Given the description of an element on the screen output the (x, y) to click on. 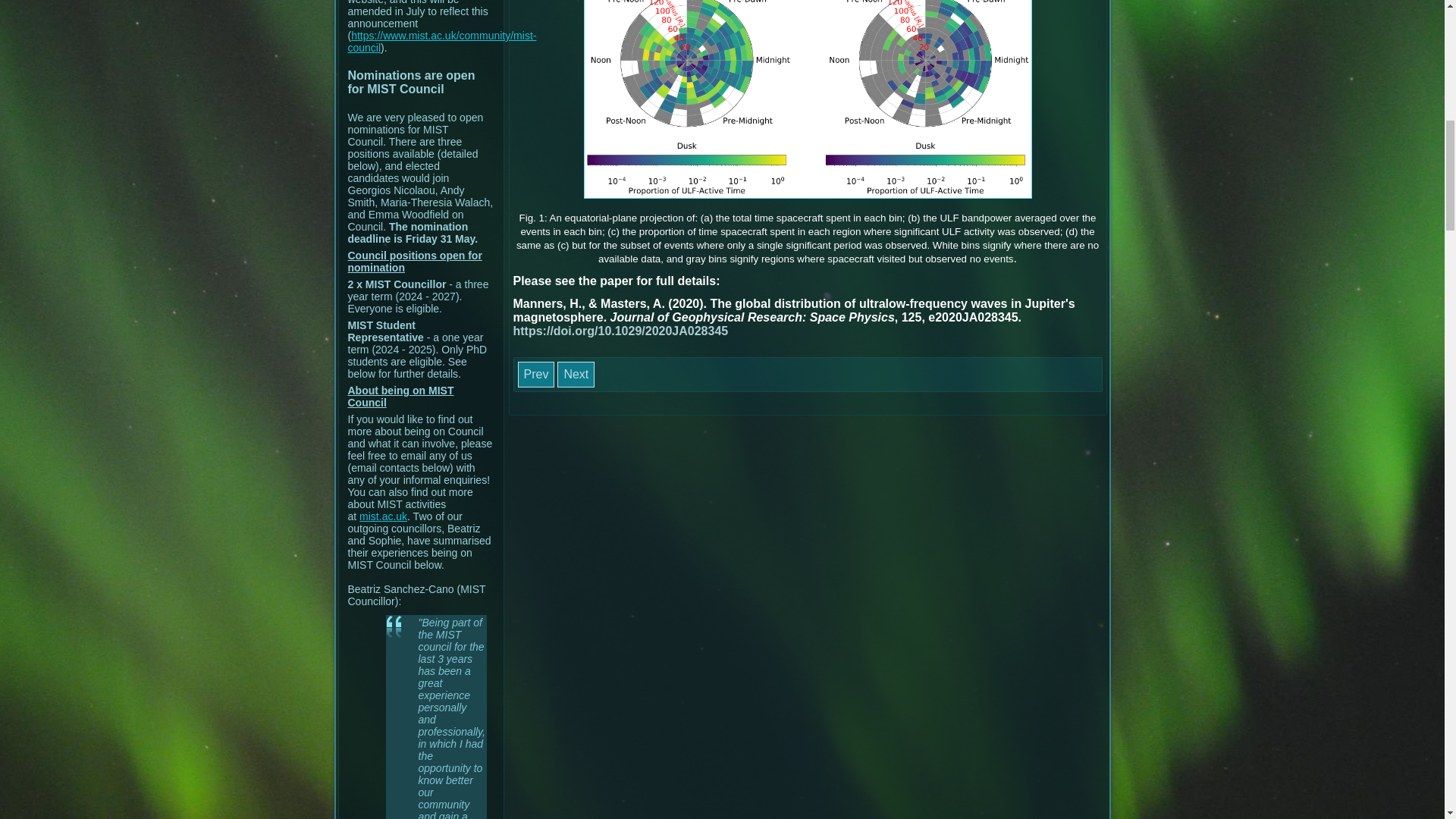
mist.ac.uk (383, 516)
